Given the description of an element on the screen output the (x, y) to click on. 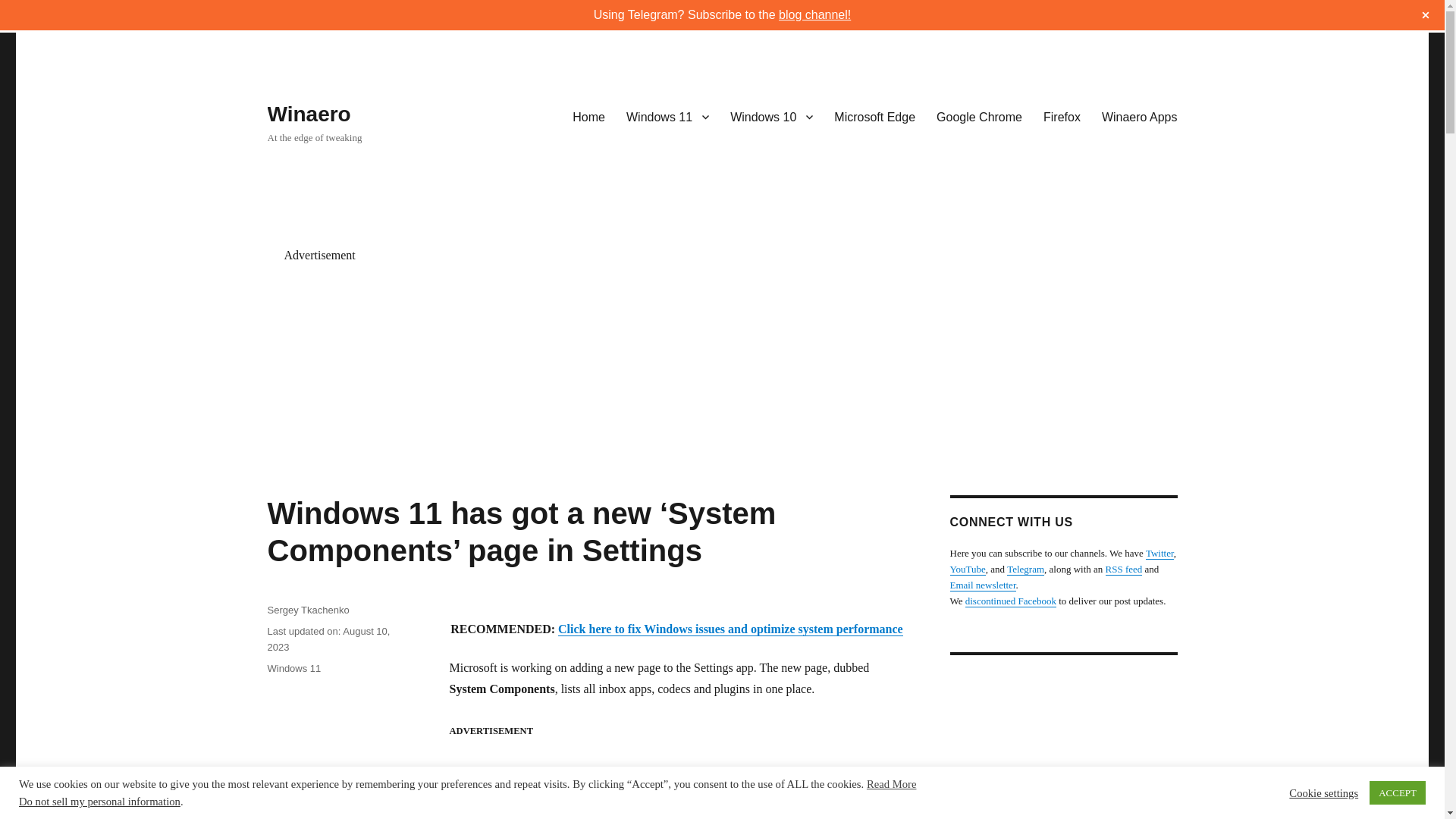
Subscribe with email (981, 584)
Join our Telegram channel (1025, 568)
Winaero (308, 114)
Windows 10 (771, 116)
Advertisement (578, 789)
Windows 11 (293, 668)
Home (588, 116)
Sergey Tkachenko (307, 609)
Microsoft Edge (875, 116)
Winaero Apps (1139, 116)
